Given the description of an element on the screen output the (x, y) to click on. 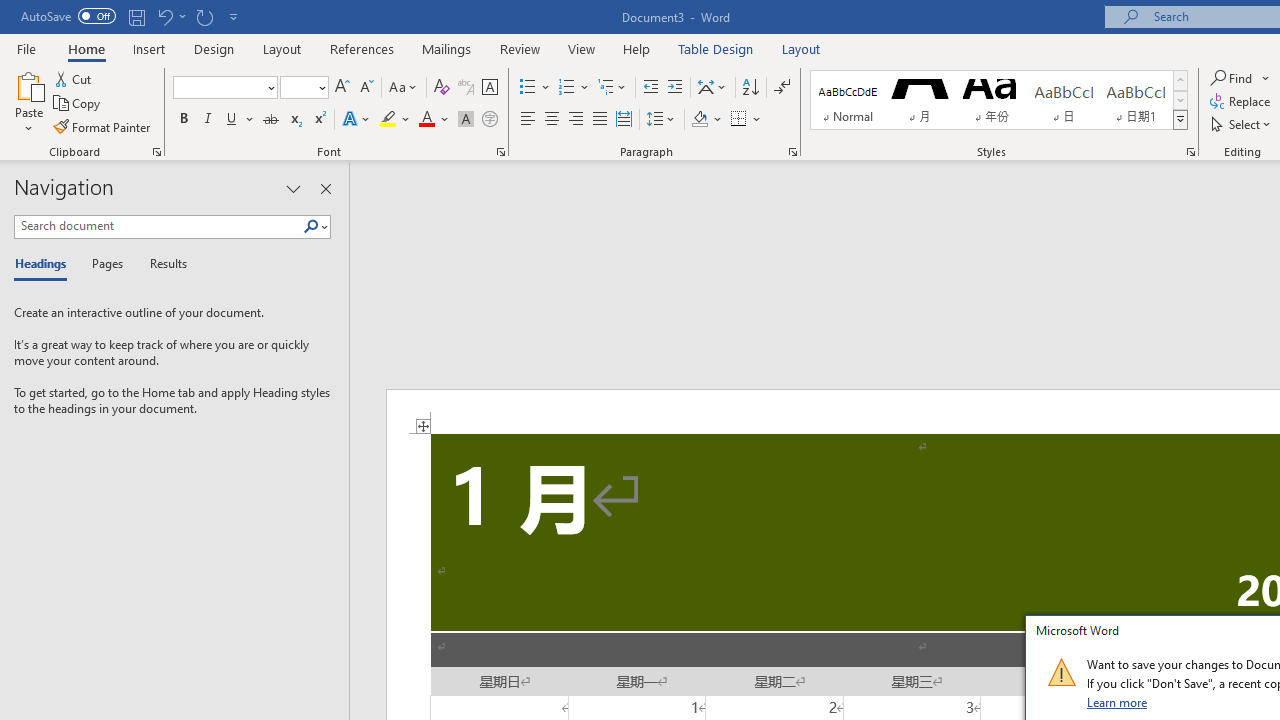
Repeat Style (204, 15)
